Given the description of an element on the screen output the (x, y) to click on. 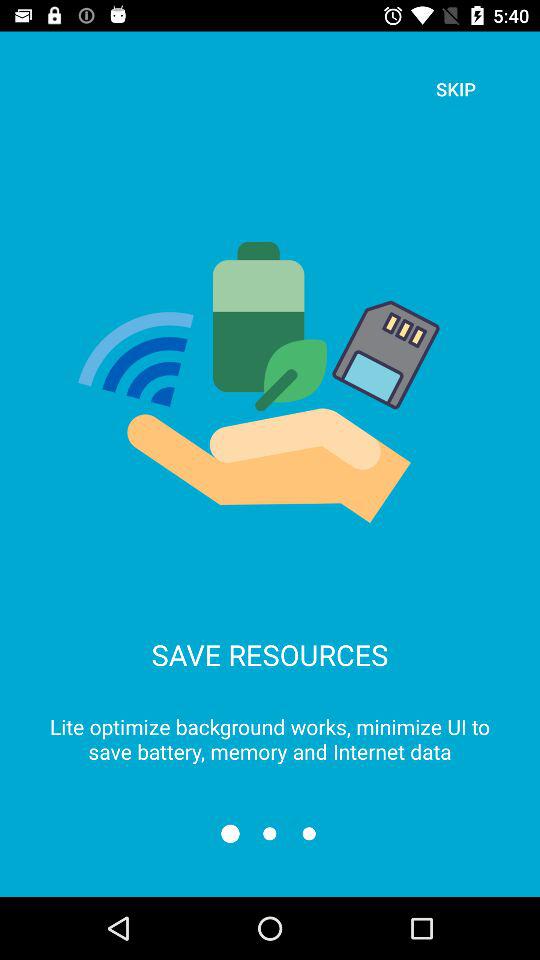
open skip icon (455, 88)
